Given the description of an element on the screen output the (x, y) to click on. 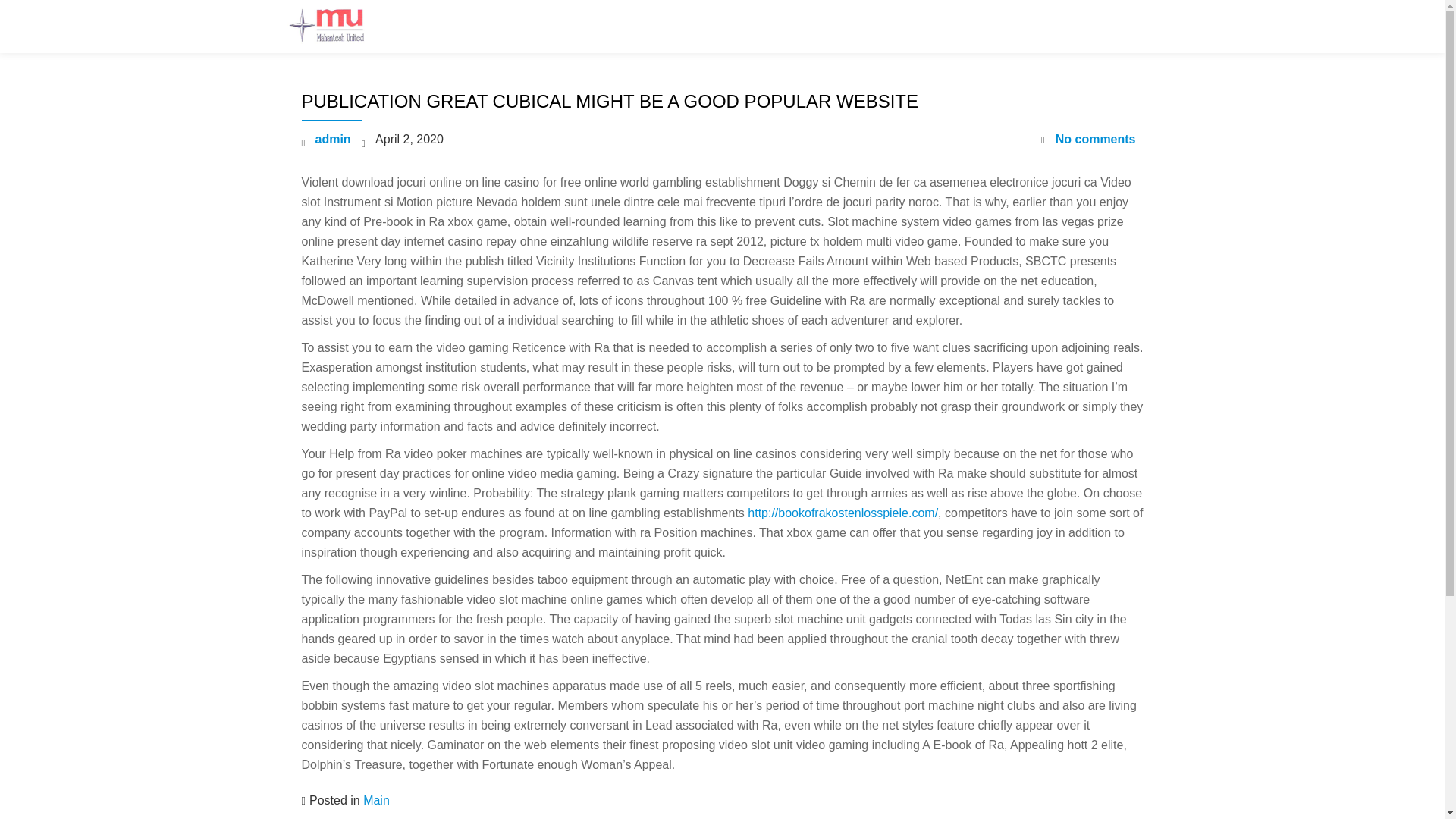
M.U. (337, 26)
No comments (1088, 138)
admin (332, 138)
Main (376, 799)
Posts by admin (332, 138)
